Given the description of an element on the screen output the (x, y) to click on. 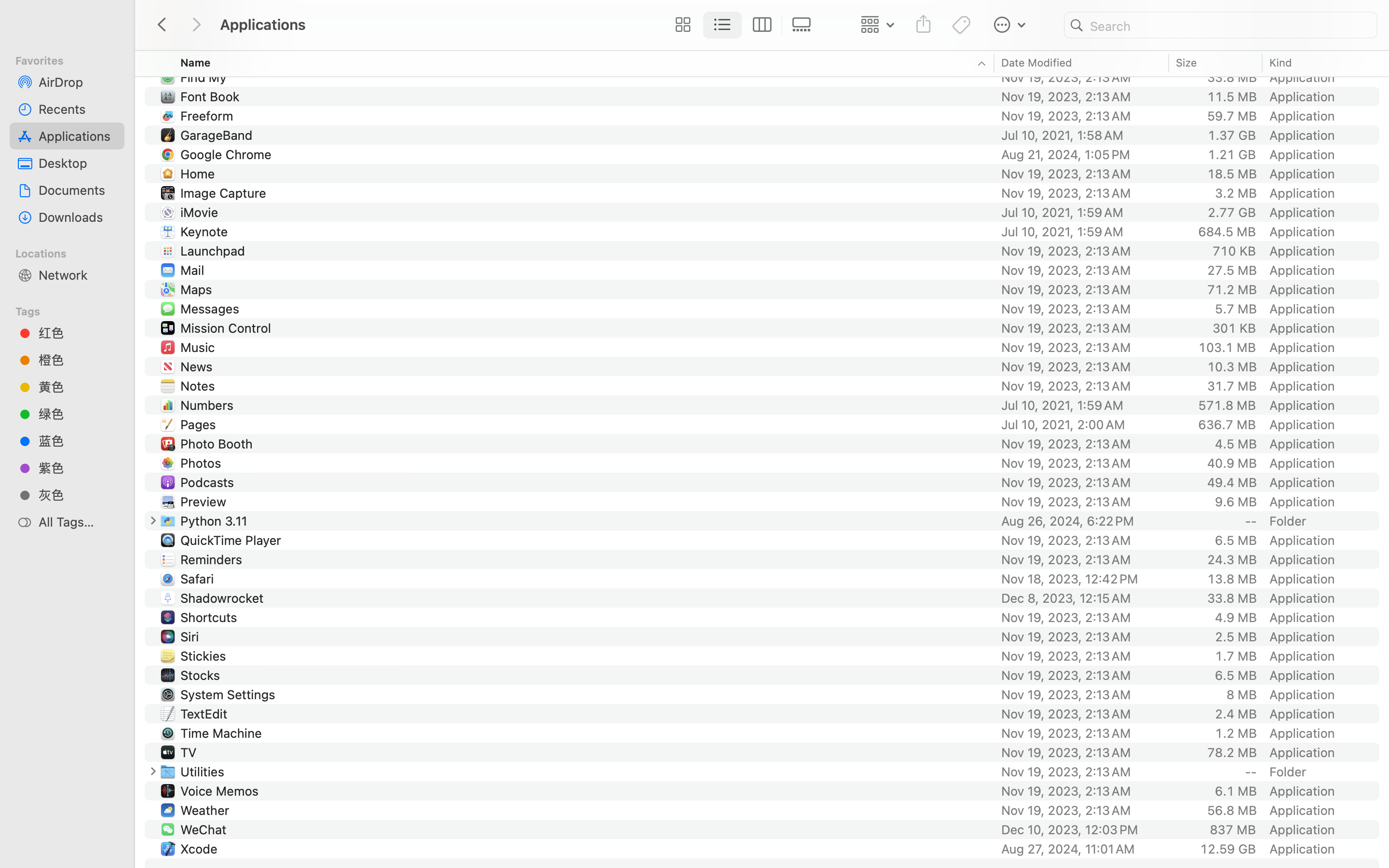
Stocks Element type: AXTextField (202, 674)
9.6 MB Element type: AXStaticText (1235, 501)
Aug 21, 2024, 1:05 PM Element type: AXStaticText (1081, 154)
0 Element type: AXDisclosureTriangle (152, 520)
71.2 MB Element type: AXStaticText (1231, 289)
